Given the description of an element on the screen output the (x, y) to click on. 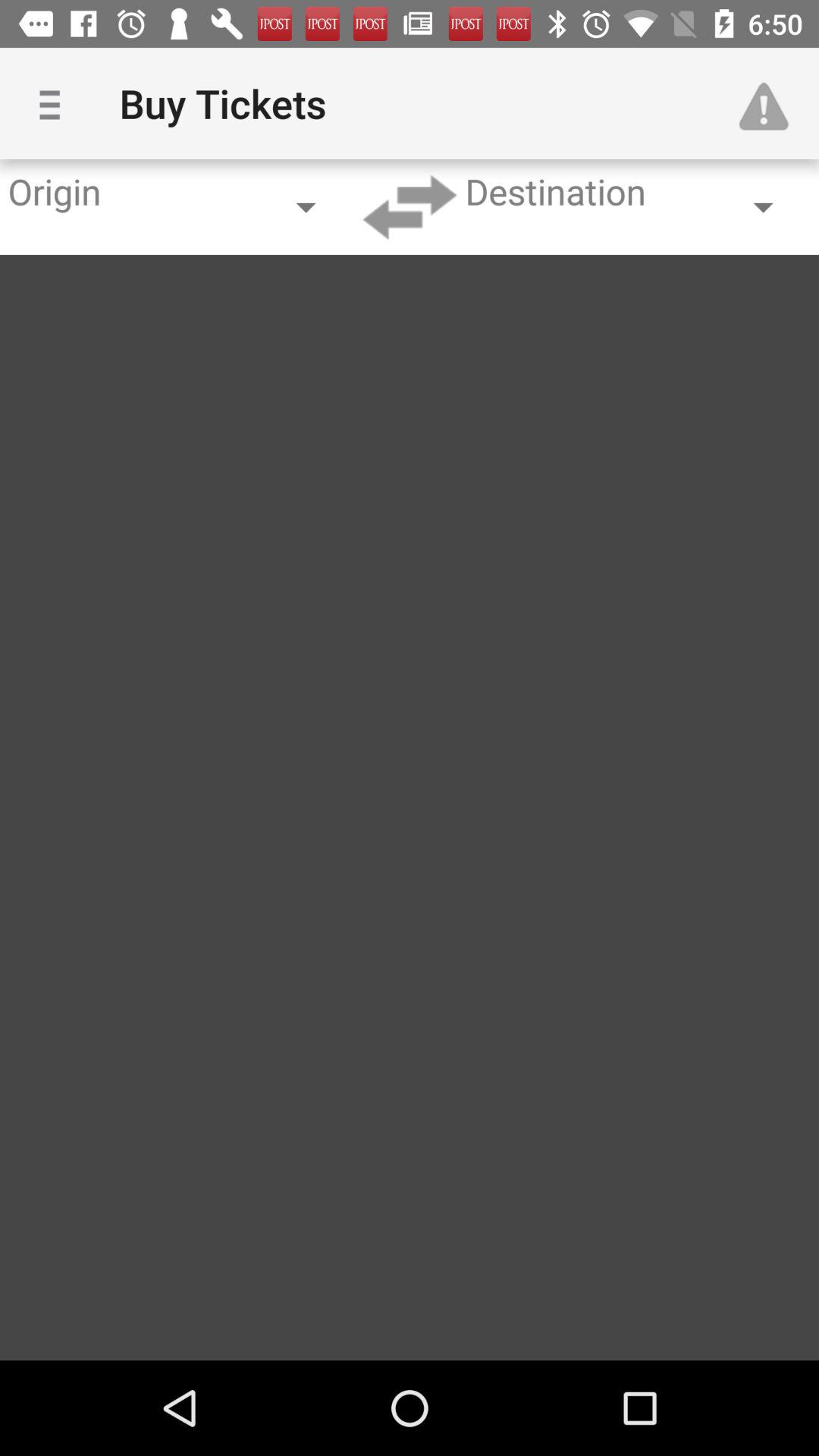
changes destination on the app (409, 206)
